Given the description of an element on the screen output the (x, y) to click on. 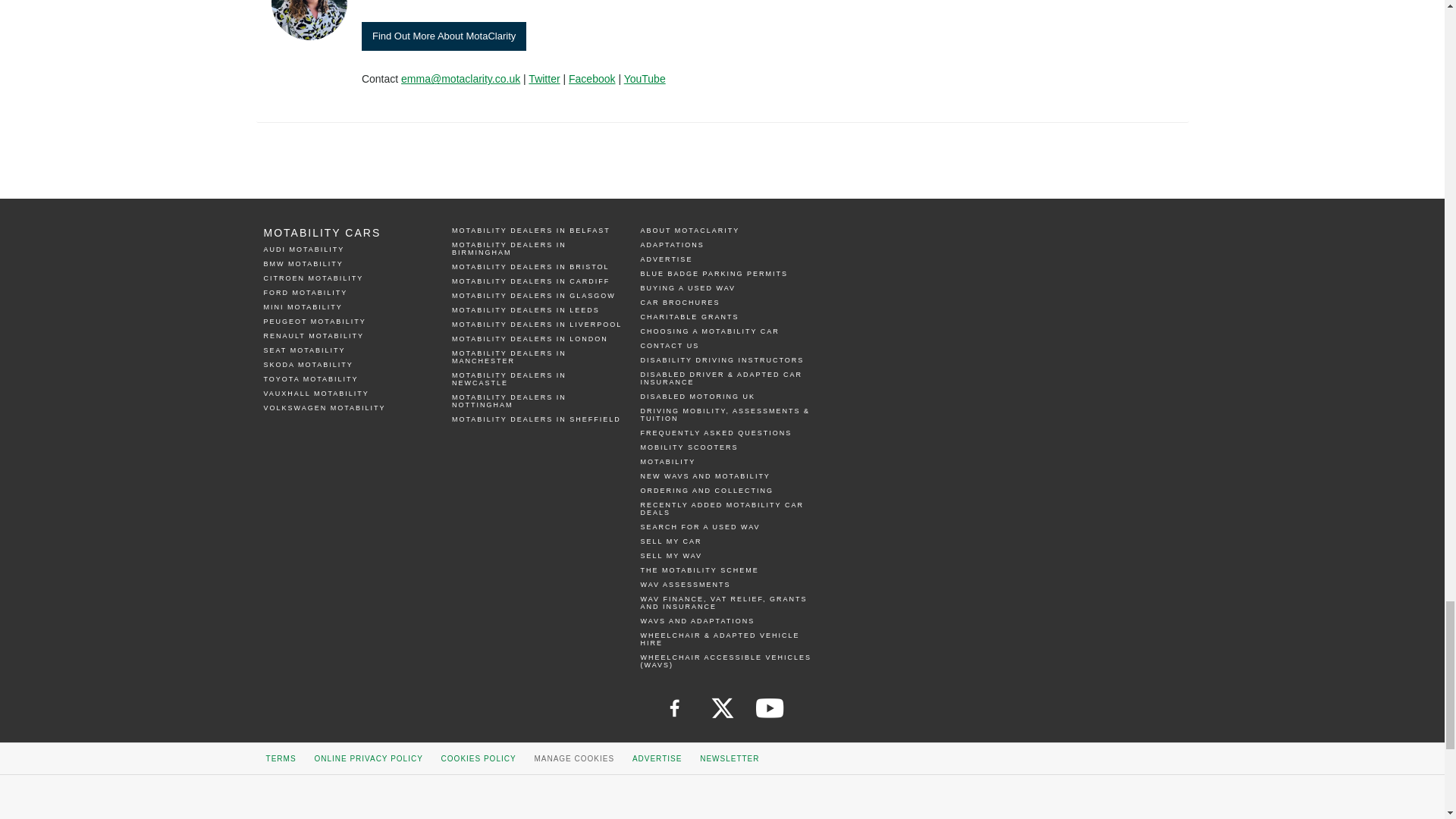
Email Emma Jewsbury (460, 78)
Visit MotaClarity On Facebook (591, 78)
Visit MotaClarity On Twitter (543, 78)
